Given the description of an element on the screen output the (x, y) to click on. 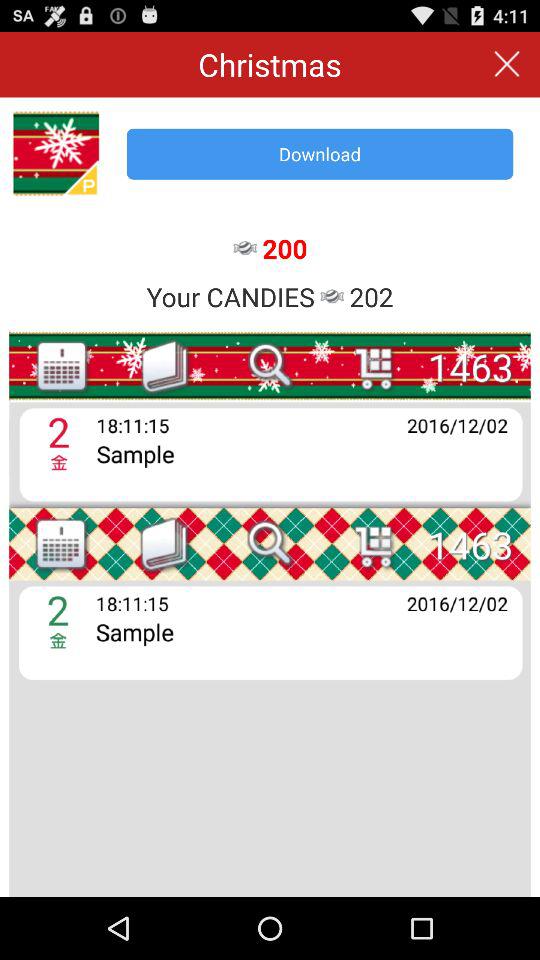
press the item next to christmas icon (506, 64)
